Given the description of an element on the screen output the (x, y) to click on. 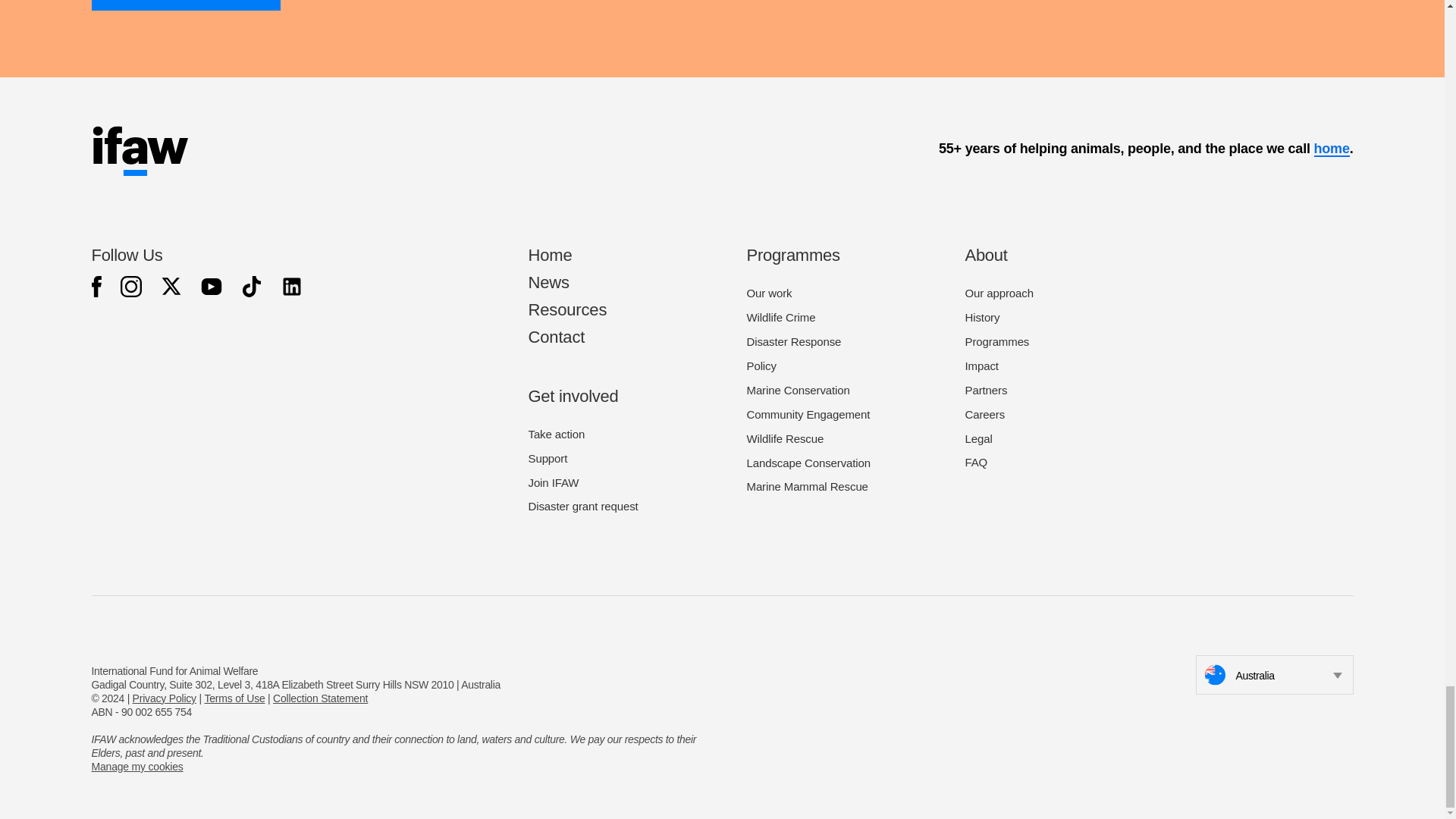
Programmes (792, 255)
Our work (768, 292)
Donate now (184, 5)
News (548, 281)
Home (549, 254)
home (1331, 148)
Support (547, 458)
Disaster grant request (582, 505)
Take action (556, 433)
